Given the description of an element on the screen output the (x, y) to click on. 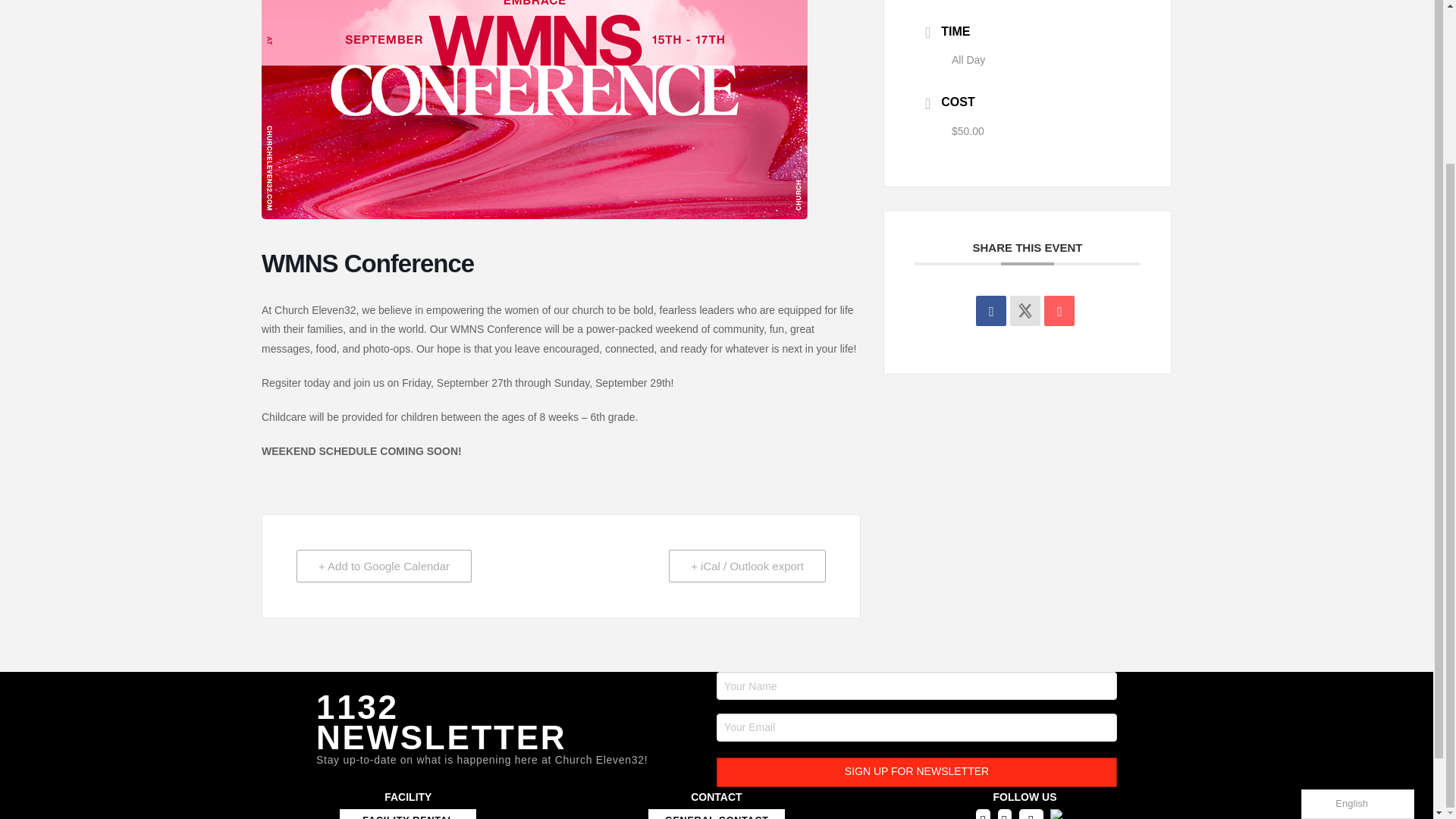
Sign Up for Newsletter (916, 772)
Share on Facebook (990, 310)
Sign Up for Newsletter (916, 772)
GENERAL CONTACT (715, 814)
Email (1058, 310)
X Social Network (1025, 310)
FACILITY RENTAL (407, 814)
